Given the description of an element on the screen output the (x, y) to click on. 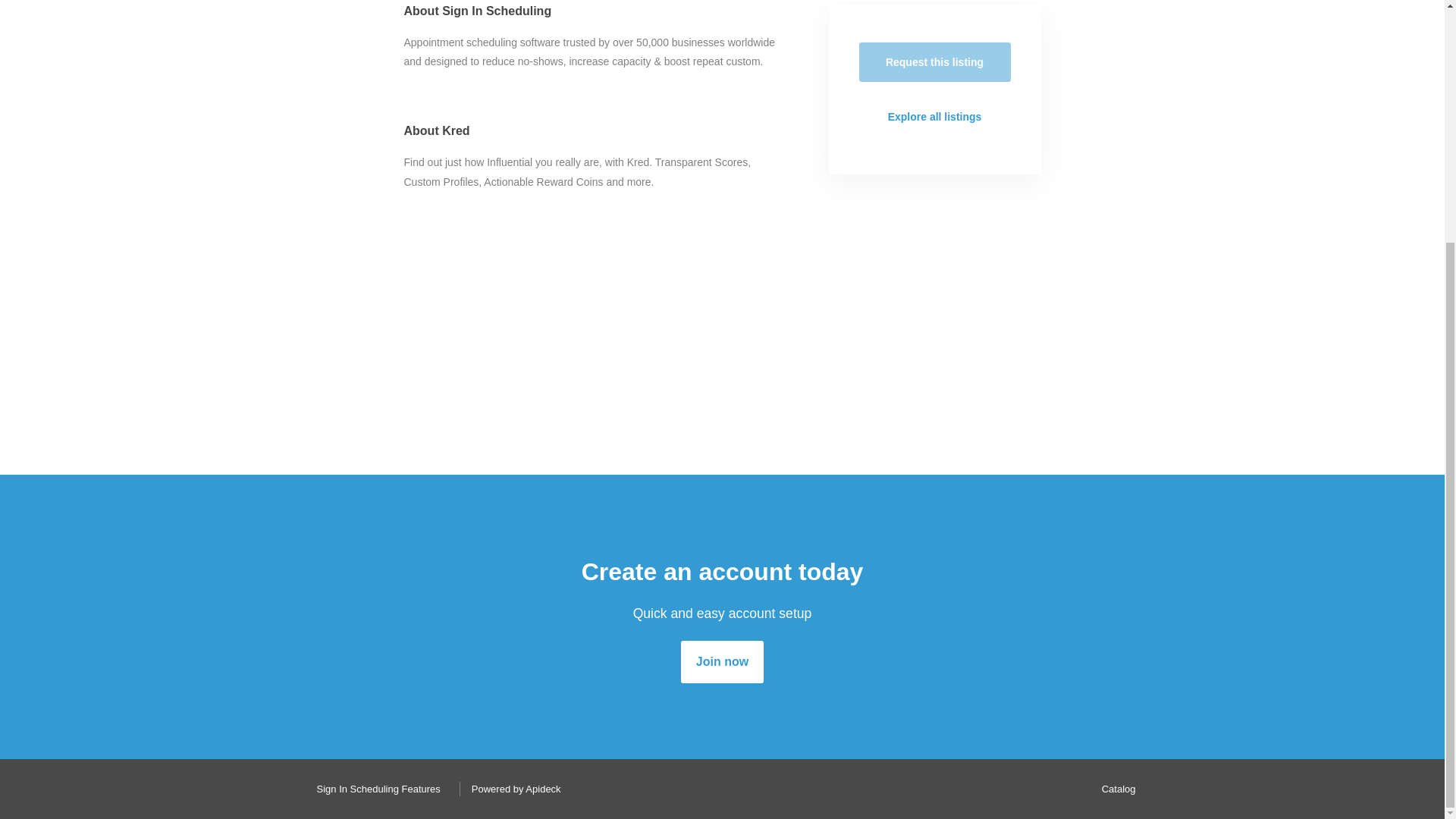
Catalog (1115, 789)
Explore all listings (934, 116)
Join now (721, 661)
Sign In Scheduling Features (374, 789)
Request this listing (934, 61)
Powered by Apideck (512, 789)
